Given the description of an element on the screen output the (x, y) to click on. 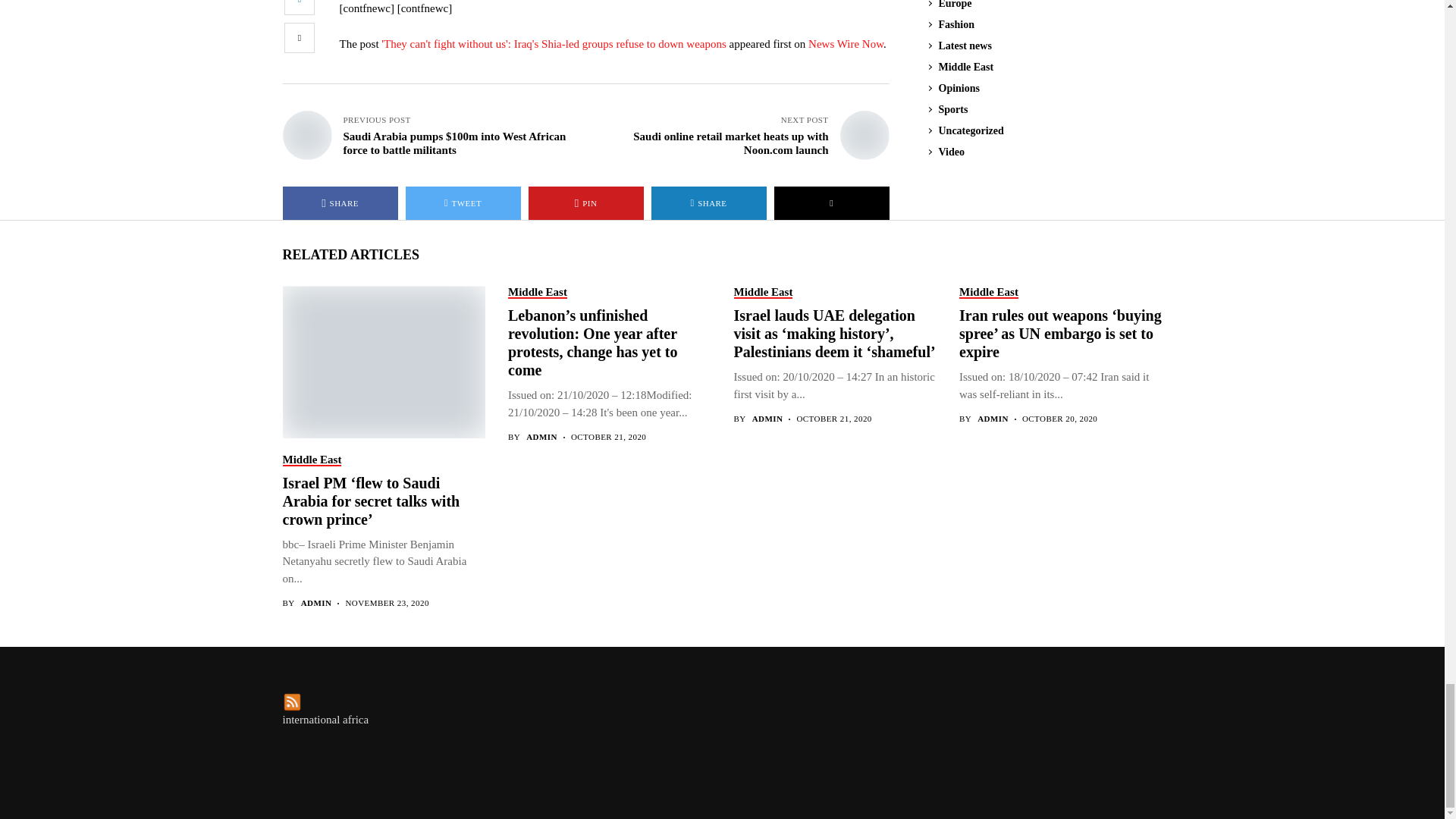
Posts by admin (992, 419)
Posts by admin (541, 437)
Posts by admin (767, 419)
Posts by admin (316, 603)
